Given the description of an element on the screen output the (x, y) to click on. 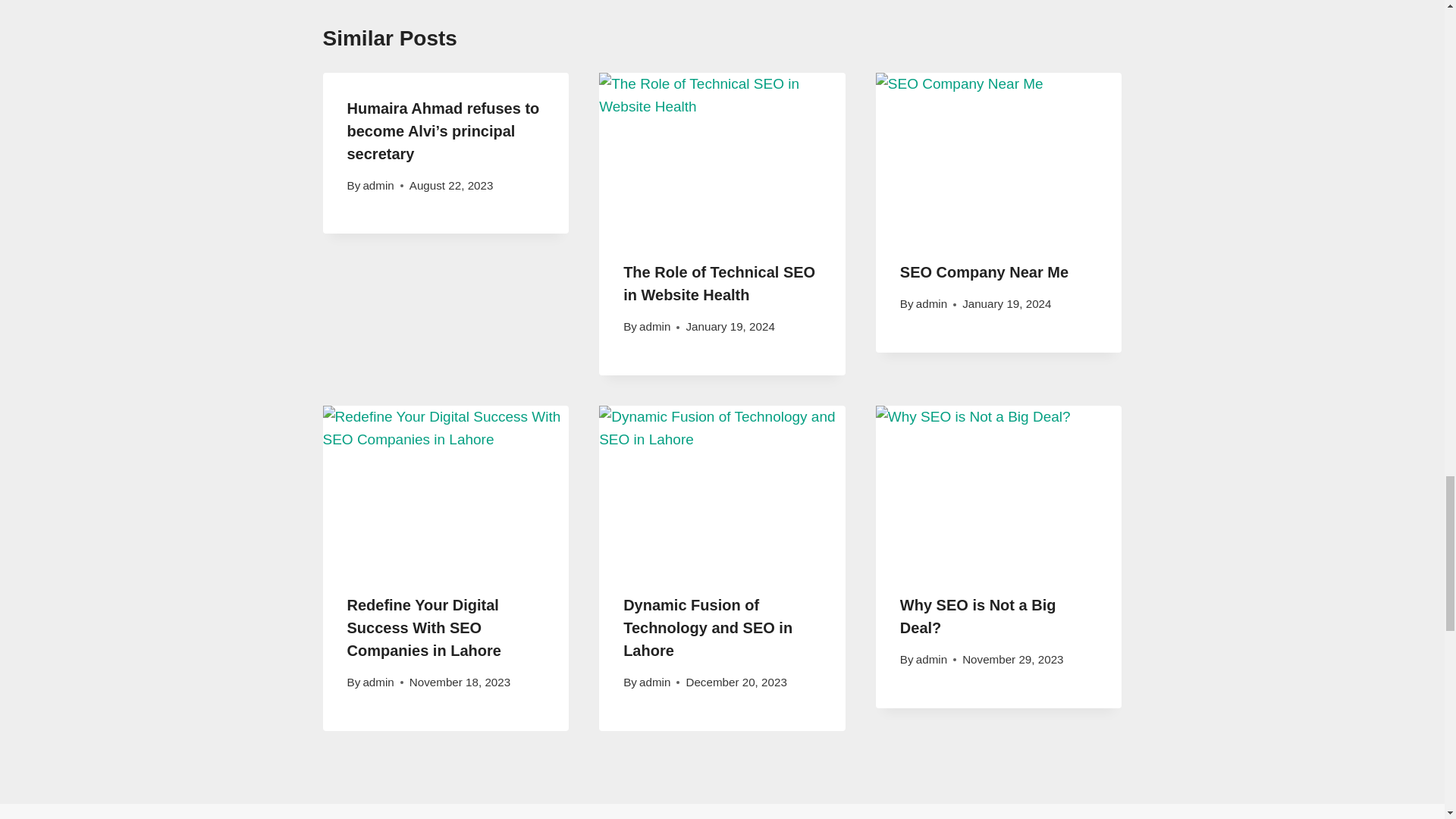
admin (377, 185)
admin (654, 326)
Redefine Your Digital Success With SEO Companies in Lahore (423, 628)
The Role of Technical SEO in Website Health (719, 283)
admin (931, 303)
SEO Company Near Me (983, 271)
admin (377, 681)
